Given the description of an element on the screen output the (x, y) to click on. 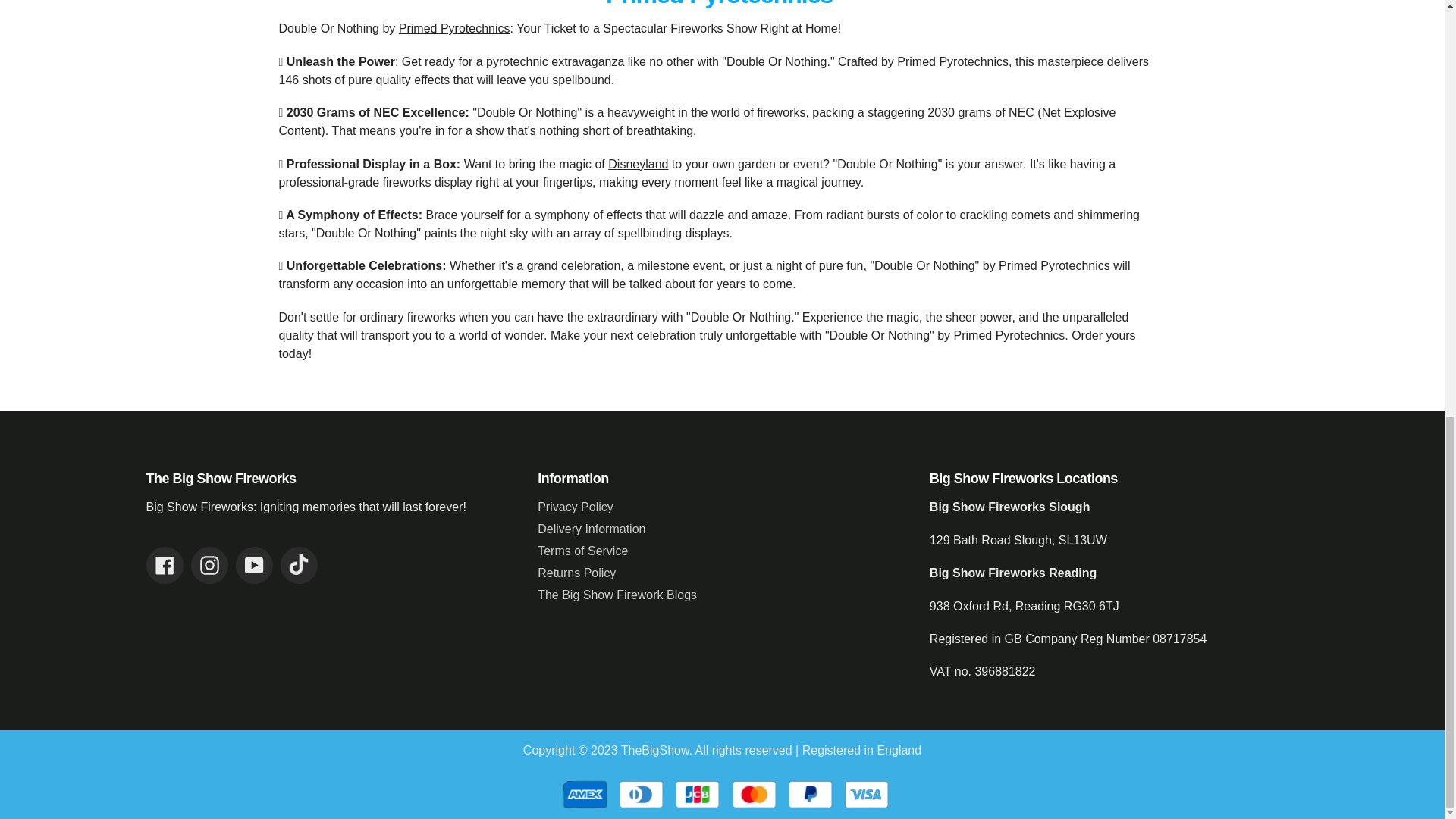
Primed Pyrotechnics (1053, 265)
Disney Firewrorks (638, 163)
Primed Pyrotechnics (454, 28)
